Given the description of an element on the screen output the (x, y) to click on. 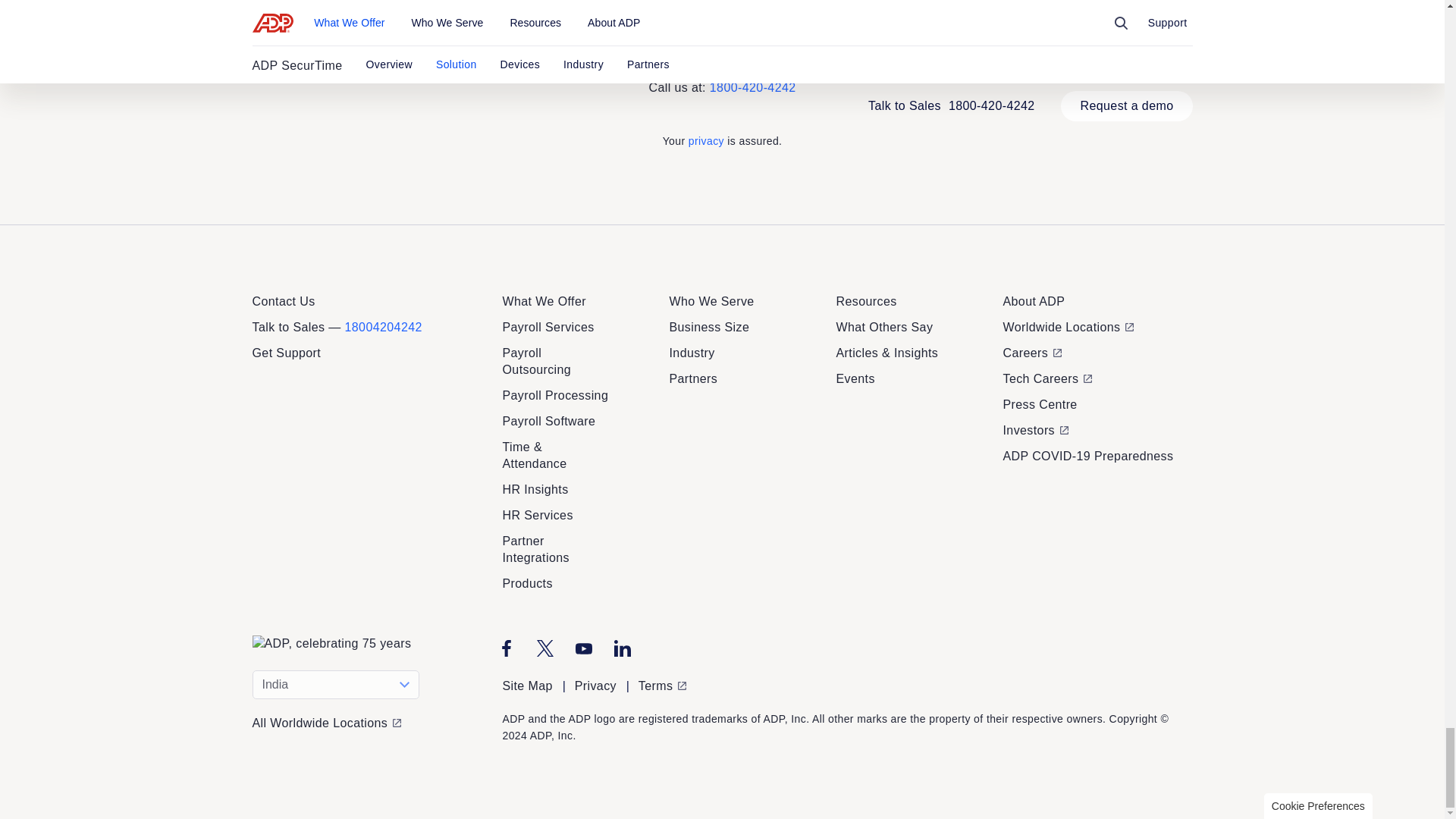
No (785, 707)
Quote (611, 379)
Demo (671, 379)
Yes (739, 707)
Sales question (737, 379)
